Given the description of an element on the screen output the (x, y) to click on. 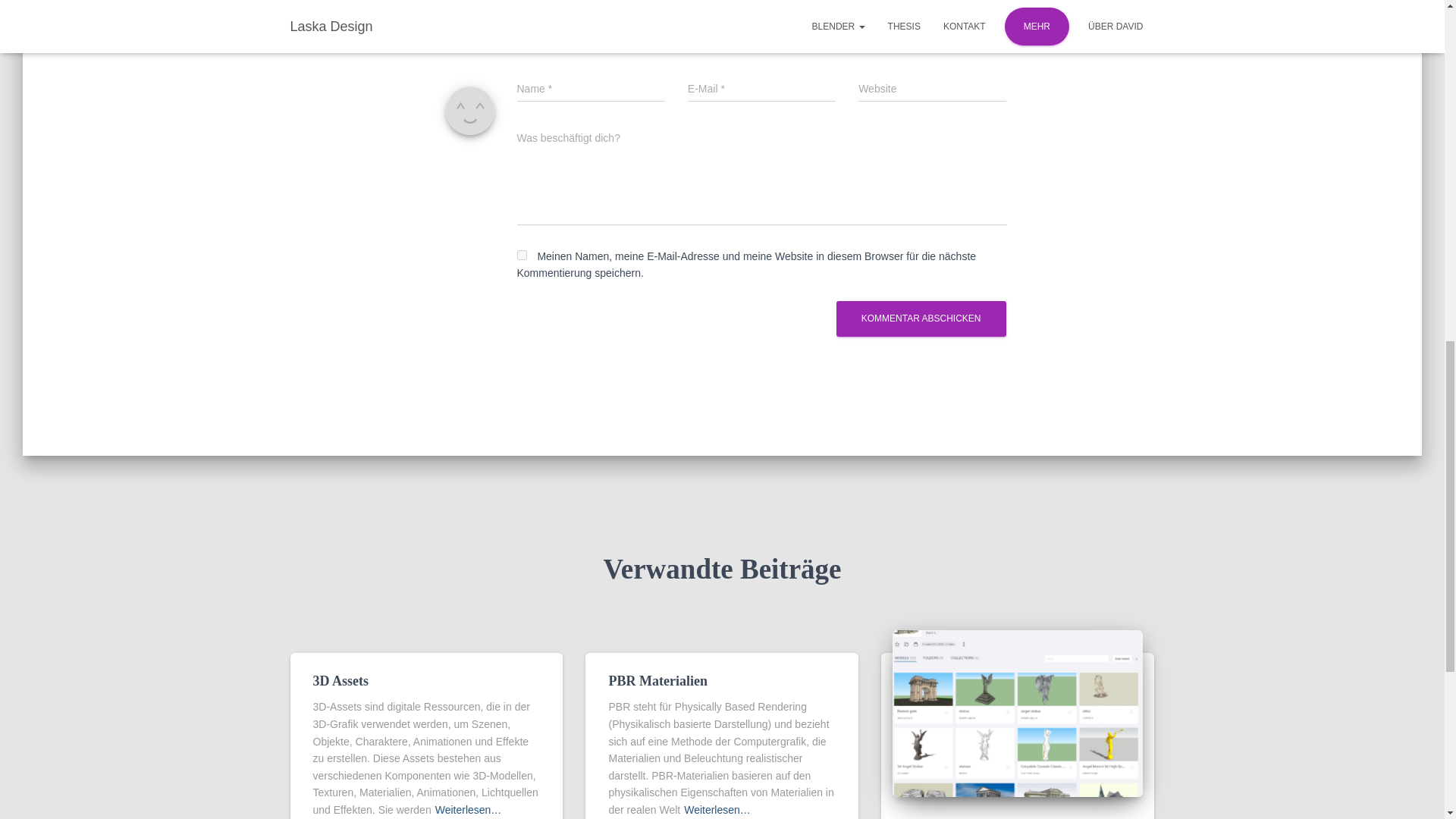
PBR Materialien (657, 680)
yes (521, 255)
PBR Materialien (657, 680)
3D Assets (340, 680)
Was sind 3D Assets? (963, 818)
3D Assets (340, 680)
Was sind 3D Assets? (963, 818)
Kommentar abschicken (920, 318)
Was sind 3D Assets? (1017, 712)
Kommentar abschicken (920, 318)
